Given the description of an element on the screen output the (x, y) to click on. 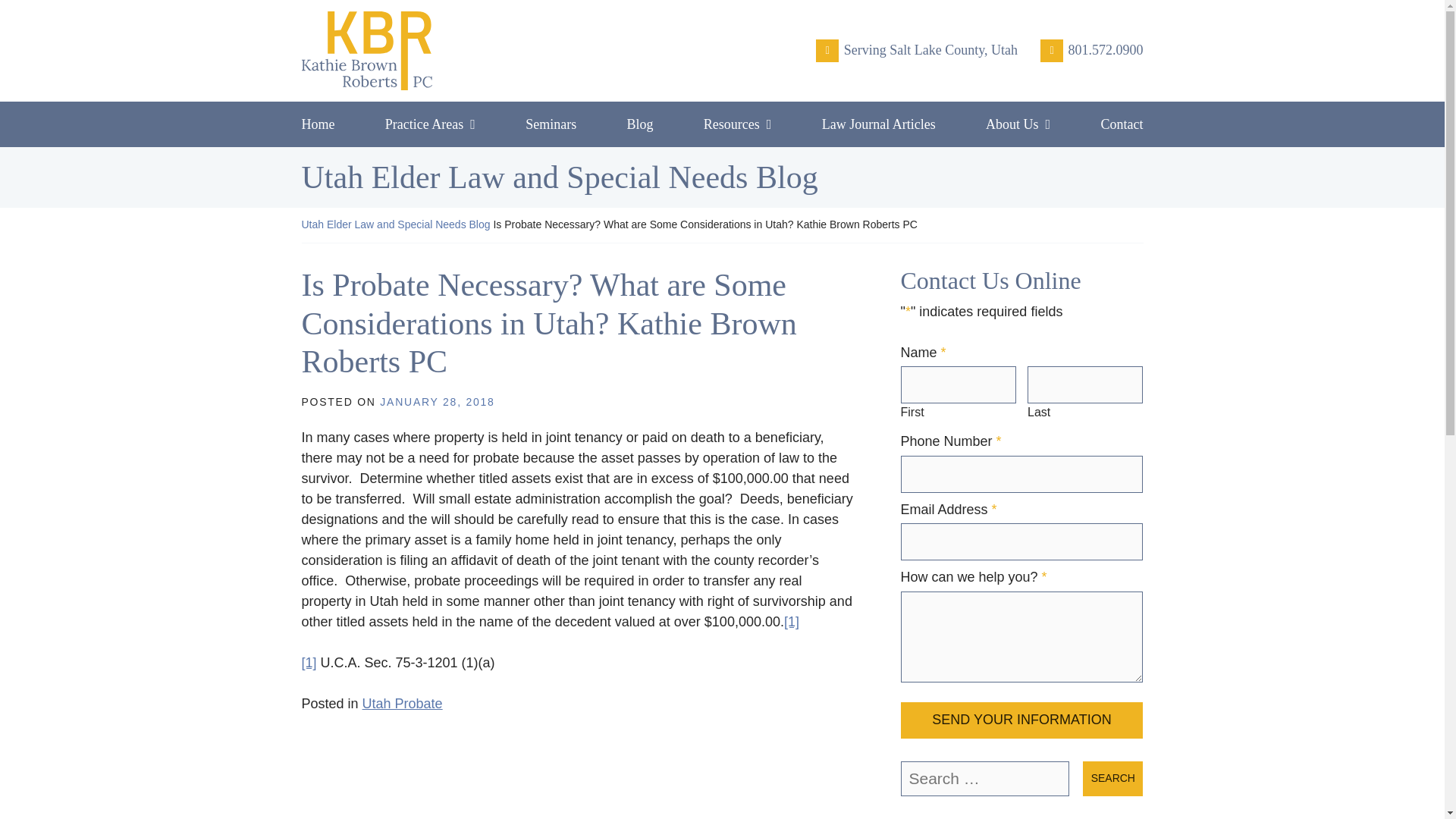
Blog (638, 124)
JANUARY 28, 2018 (437, 401)
About Us (1017, 124)
SEND YOUR INFORMATION (1021, 720)
Utah Elder Law and Special Needs Blog (395, 224)
Seminars (550, 124)
Search (1112, 778)
Utah Probate (402, 703)
Search (1112, 778)
Return home (434, 50)
